Given the description of an element on the screen output the (x, y) to click on. 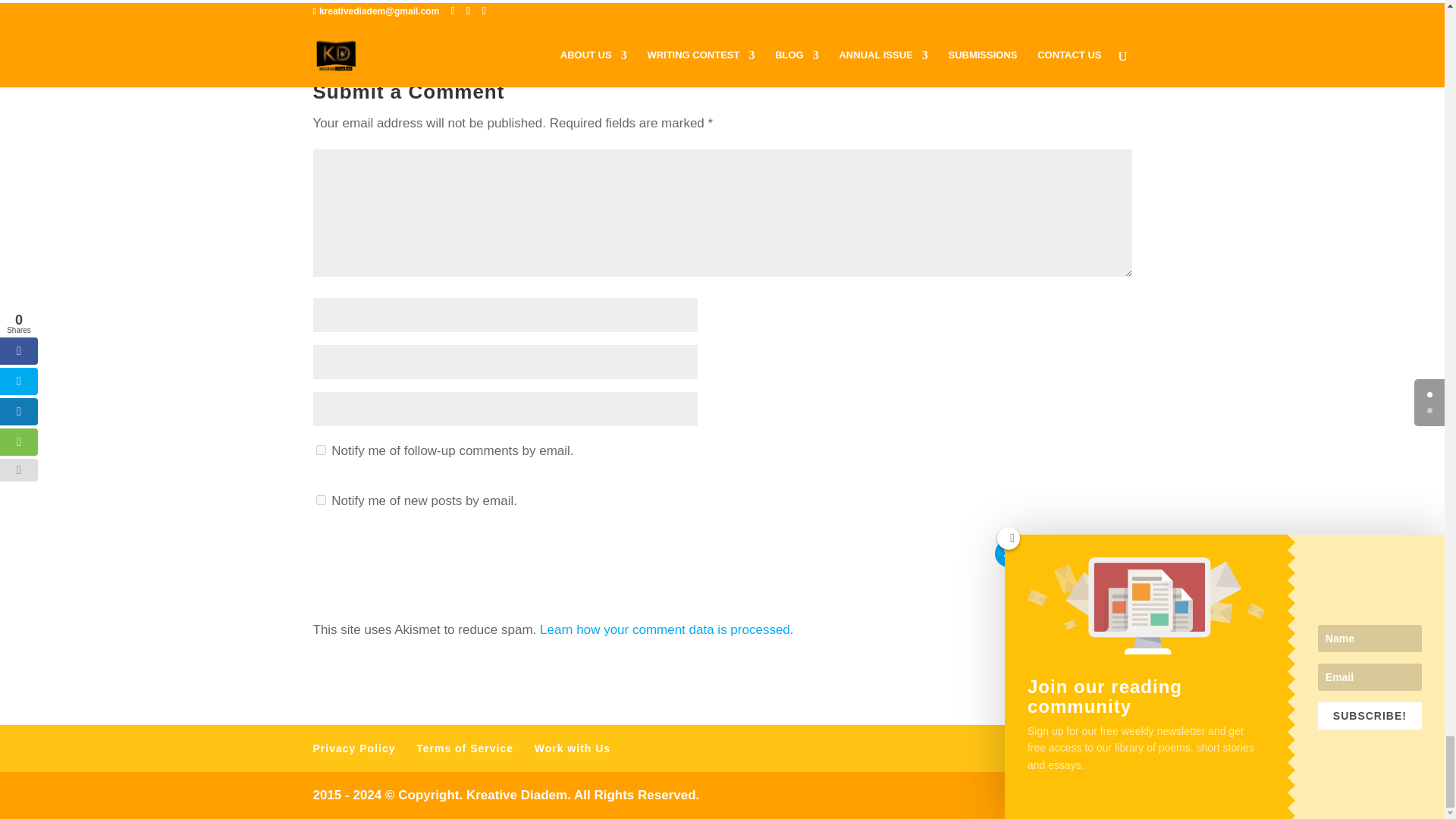
Submit Comment (1063, 553)
subscribe (319, 450)
subscribe (319, 500)
